Given the description of an element on the screen output the (x, y) to click on. 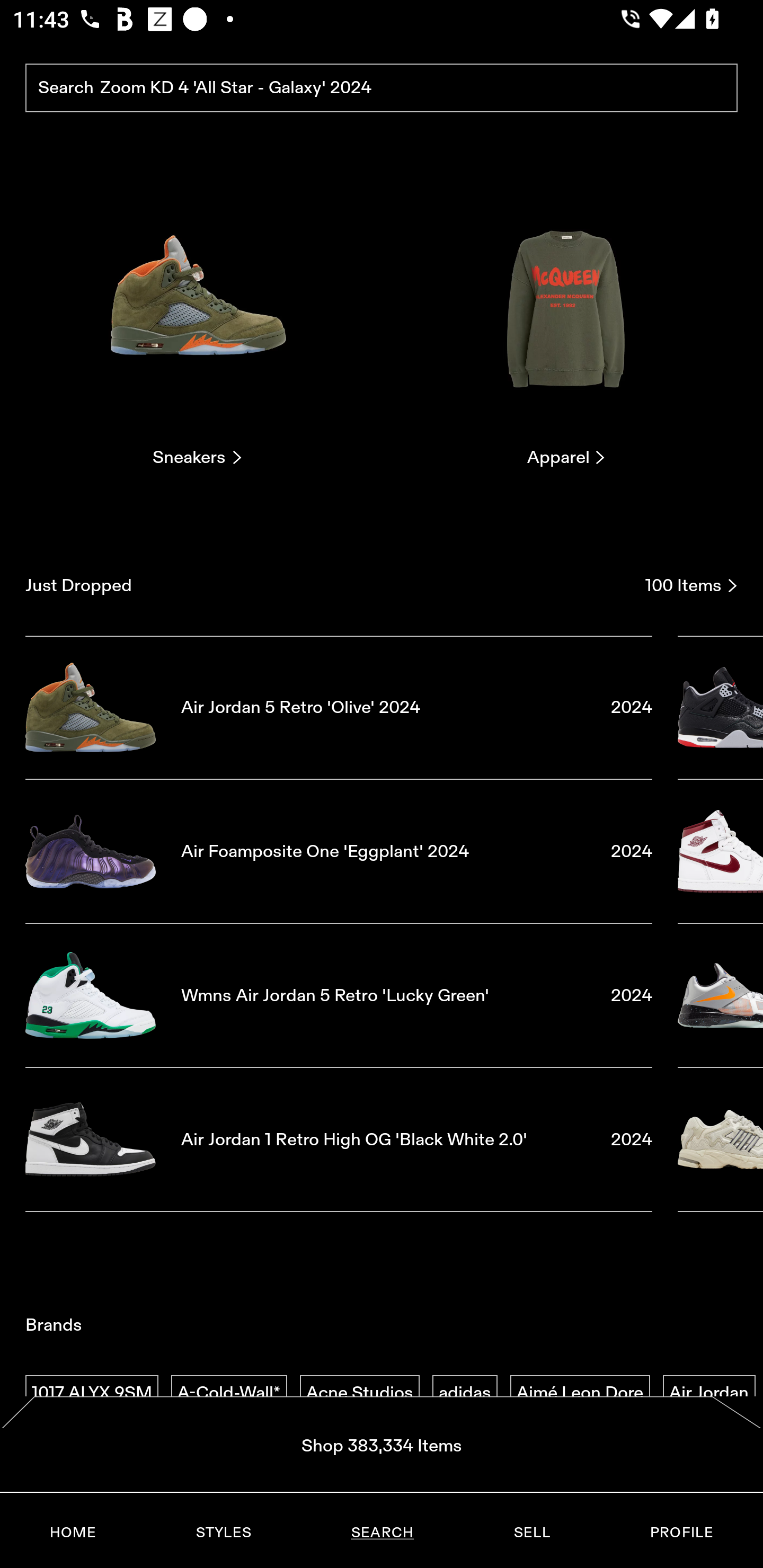
Search (381, 88)
Sneakers (196, 323)
Apparel (565, 323)
Just Dropped (328, 585)
100 Items (691, 585)
Air Jordan 5 Retro 'Olive' 2024 2024 (338, 707)
Air Foamposite One 'Eggplant' 2024 2024 (338, 851)
Wmns Air Jordan 5 Retro 'Lucky Green' 2024 (338, 995)
Air Jordan 1 Retro High OG 'Black White 2.0' 2024 (338, 1139)
1017 ALYX 9SM (91, 1393)
A-Cold-Wall* (228, 1393)
Acne Studios (359, 1393)
adidas (464, 1393)
Aimé Leon Dore (580, 1393)
Air Jordan (709, 1393)
HOME (72, 1532)
STYLES (222, 1532)
SELL (531, 1532)
PROFILE (681, 1532)
